Given the description of an element on the screen output the (x, y) to click on. 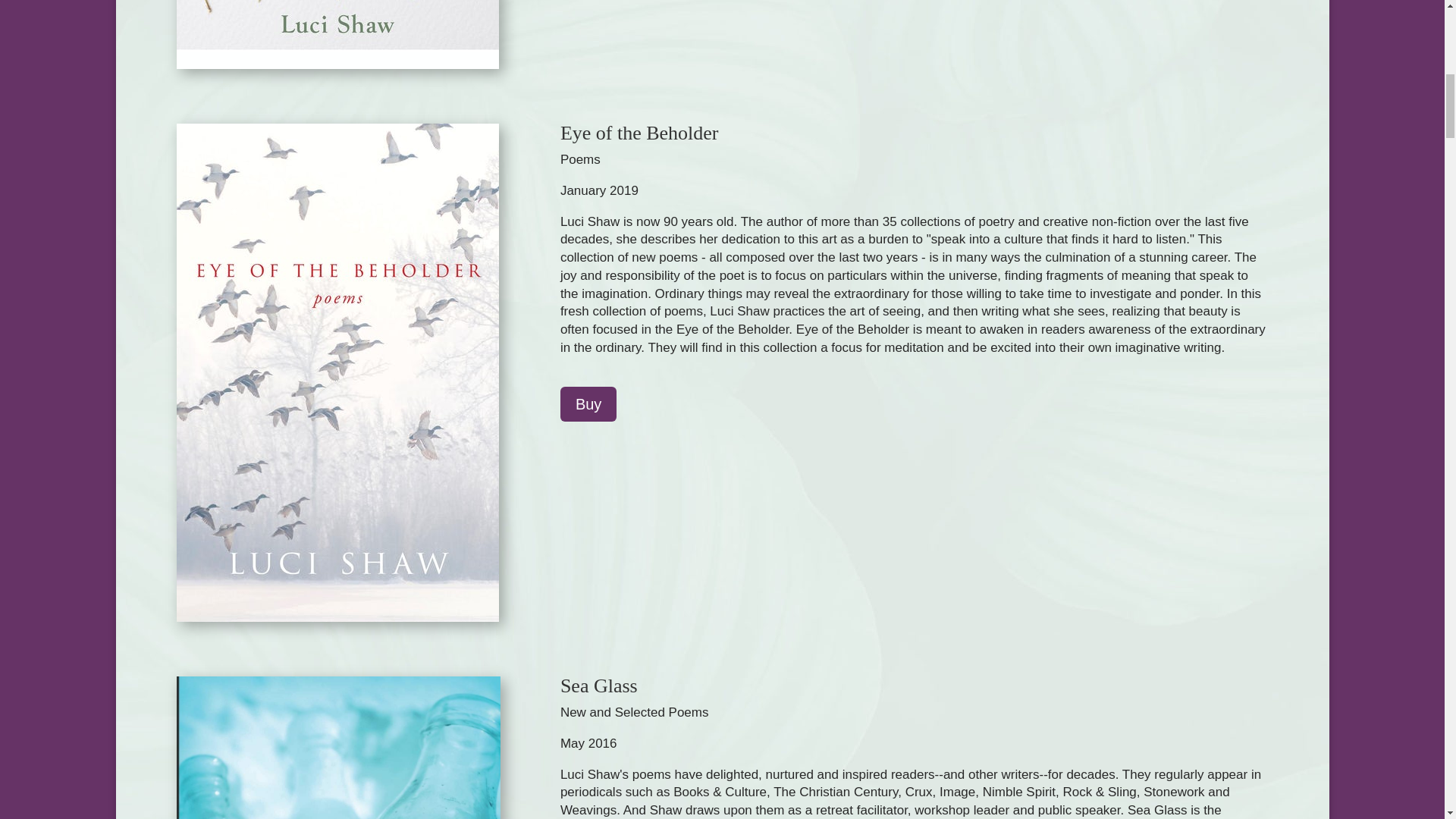
sea-glass (337, 747)
Buy (587, 403)
the-generosity-poems (336, 34)
